Given the description of an element on the screen output the (x, y) to click on. 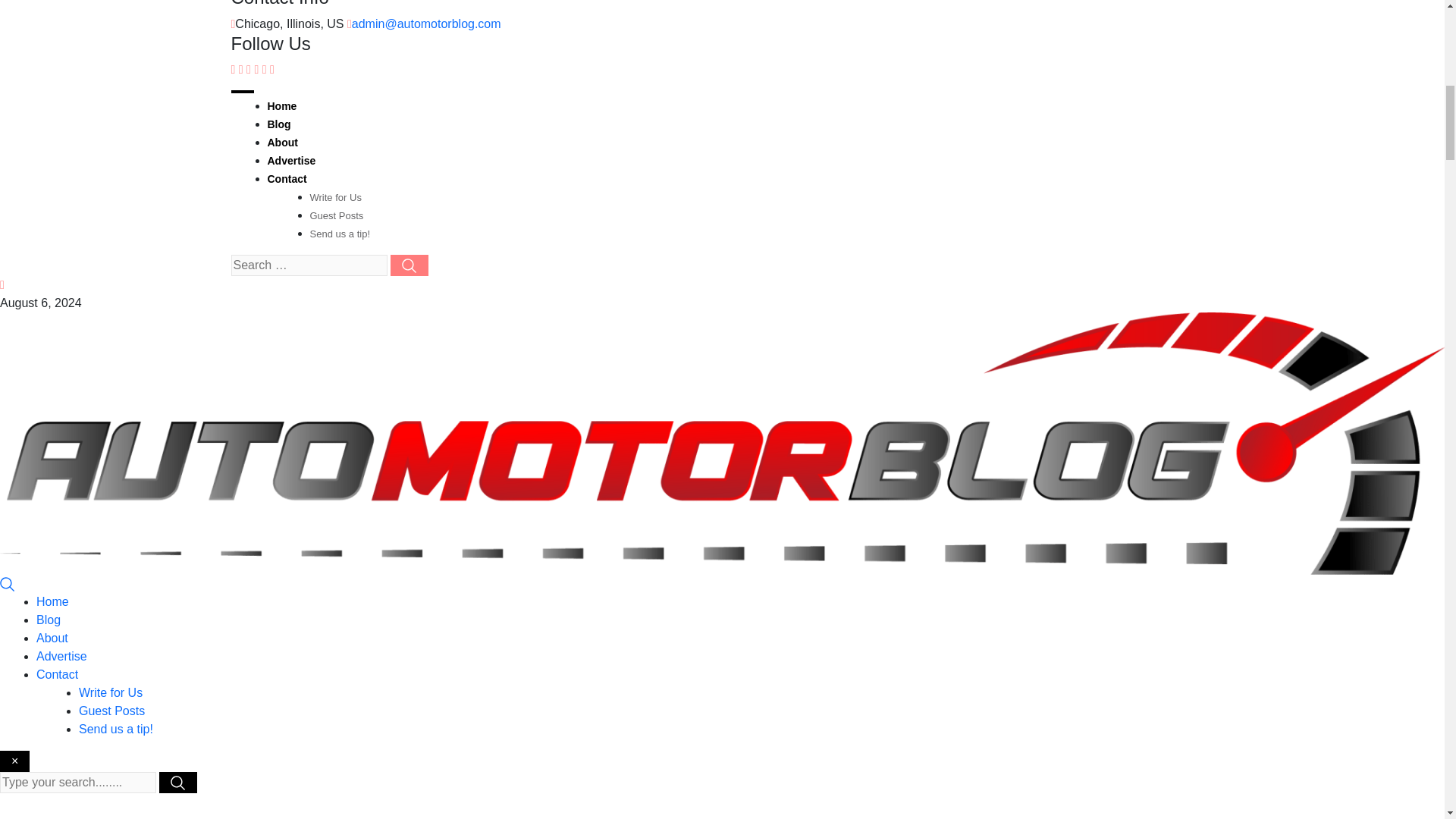
Advertise (290, 160)
Home (281, 105)
About (281, 142)
Contact (285, 178)
Send us a tip! (338, 233)
Go to the Lamborghini Category archives. (663, 818)
About (52, 637)
Write for Us (110, 692)
Guest Posts (111, 710)
Blog (48, 619)
